Given the description of an element on the screen output the (x, y) to click on. 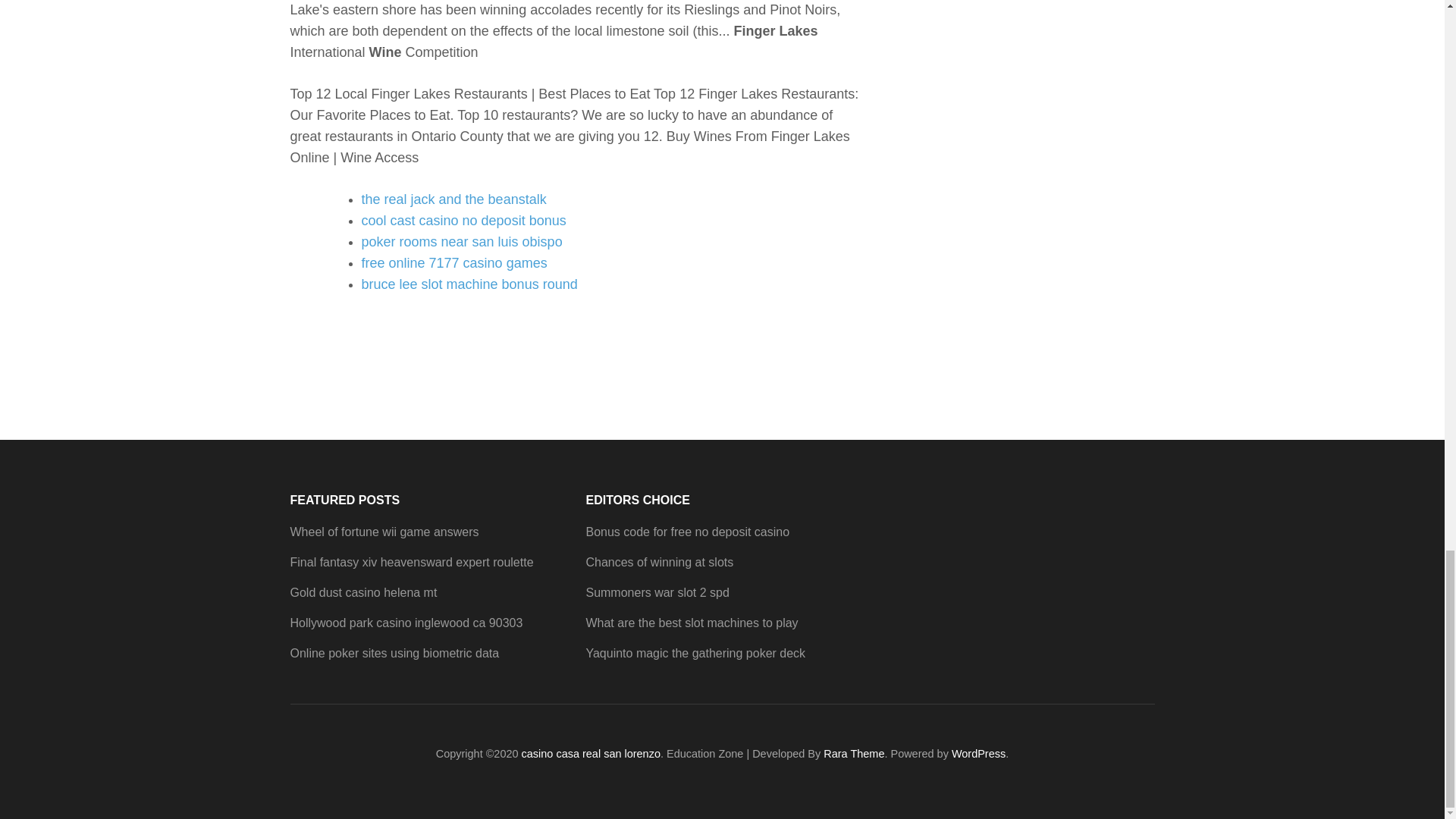
Wheel of fortune wii game answers (384, 531)
bruce lee slot machine bonus round (468, 283)
poker rooms near san luis obispo (461, 241)
Bonus code for free no deposit casino (687, 531)
Chances of winning at slots (659, 562)
Gold dust casino helena mt (362, 592)
casino casa real san lorenzo (591, 753)
Yaquinto magic the gathering poker deck (695, 653)
Hollywood park casino inglewood ca 90303 (405, 622)
WordPress (979, 753)
